Given the description of an element on the screen output the (x, y) to click on. 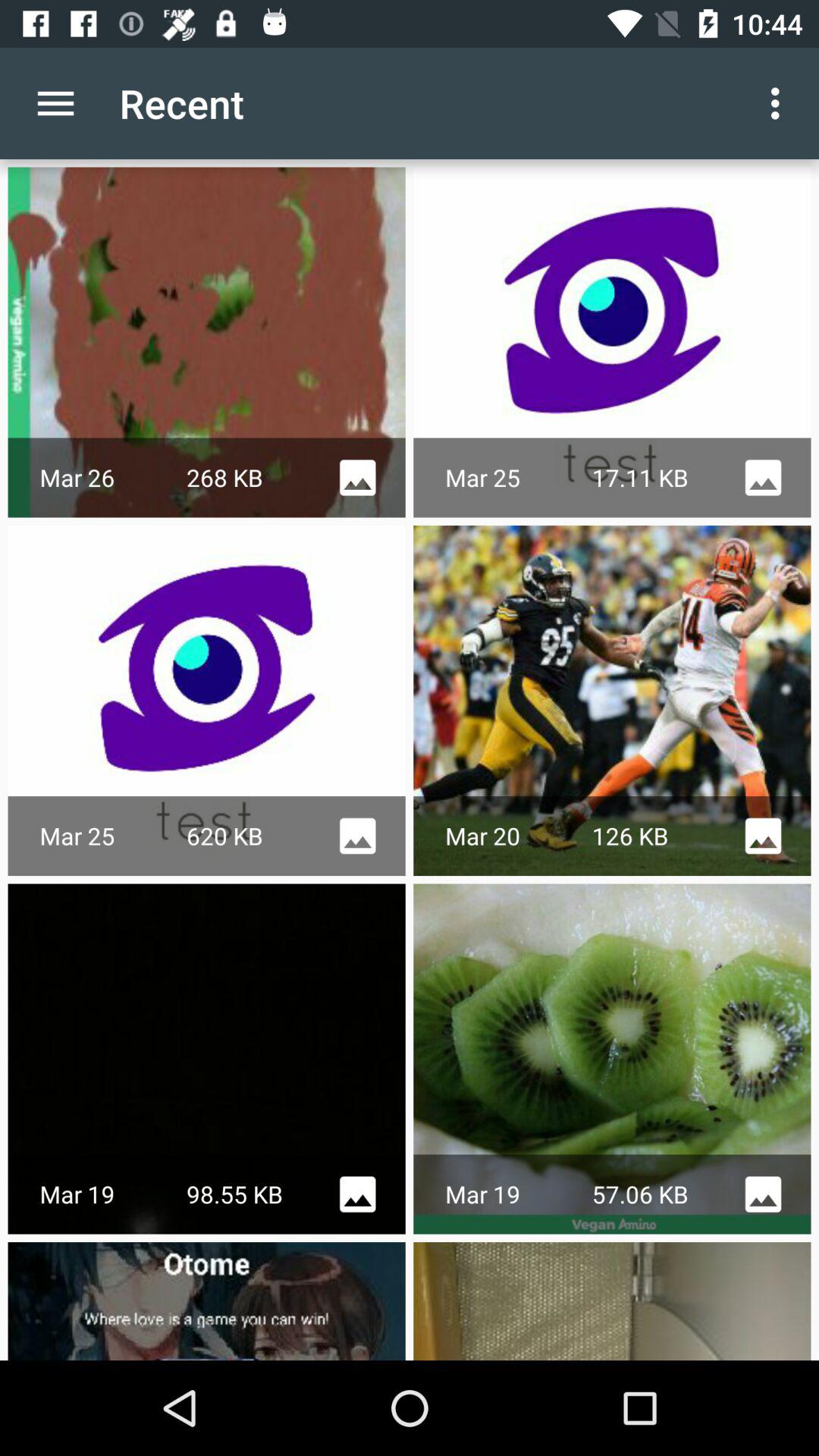
turn off the app next to the recent (779, 103)
